Given the description of an element on the screen output the (x, y) to click on. 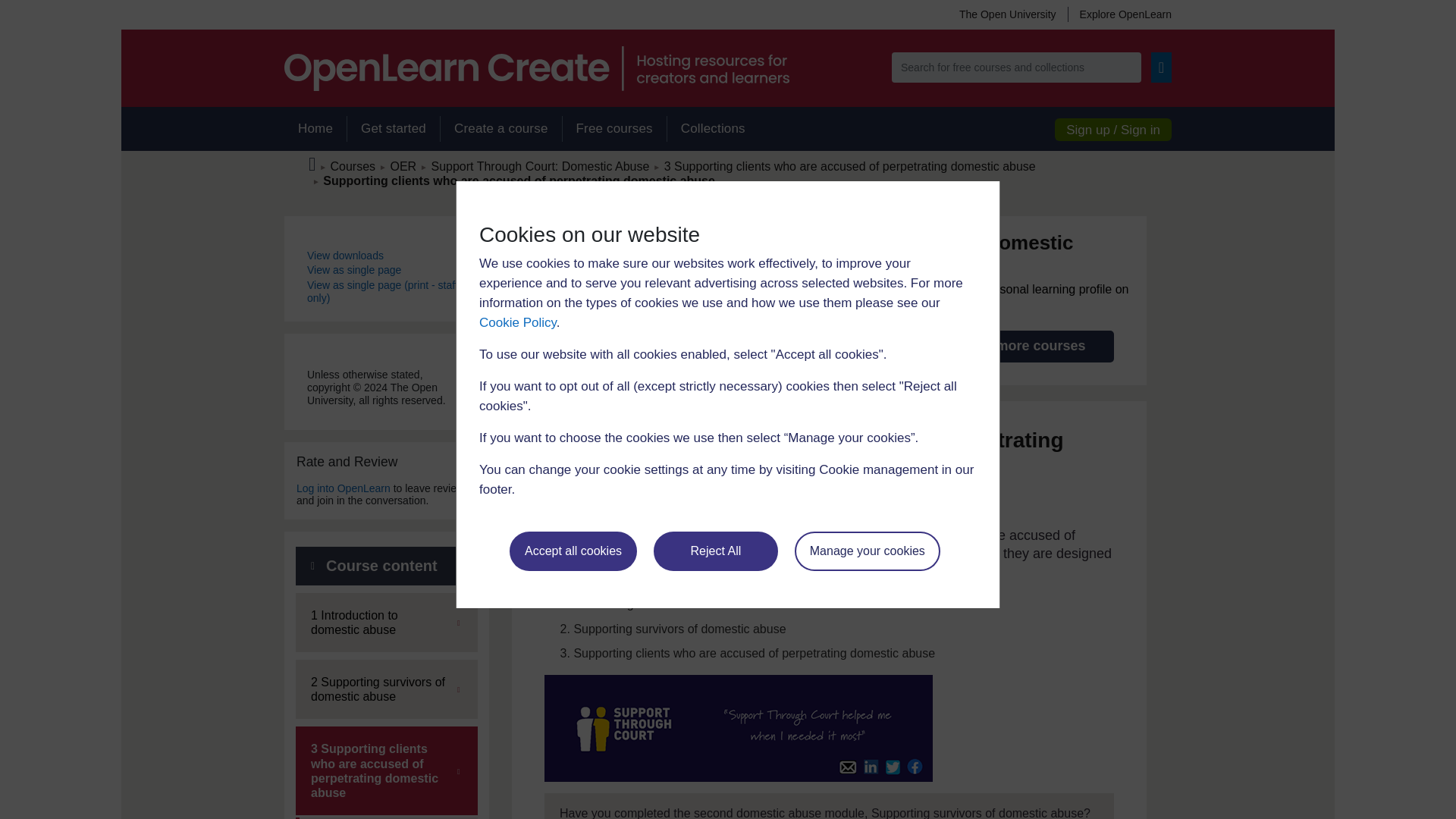
Explore OpenLearn (1119, 14)
Accept all cookies (573, 550)
OpenLearn Create (536, 67)
The Open University (1007, 14)
Reject All (715, 550)
Create a course (500, 128)
Free courses (614, 128)
Back to course content tab (386, 566)
The Open University (1007, 14)
Cookie Policy (517, 322)
Get started (392, 128)
Manage your cookies (867, 550)
Collections (712, 128)
Home (314, 128)
Explore OpenLearn (1119, 14)
